Given the description of an element on the screen output the (x, y) to click on. 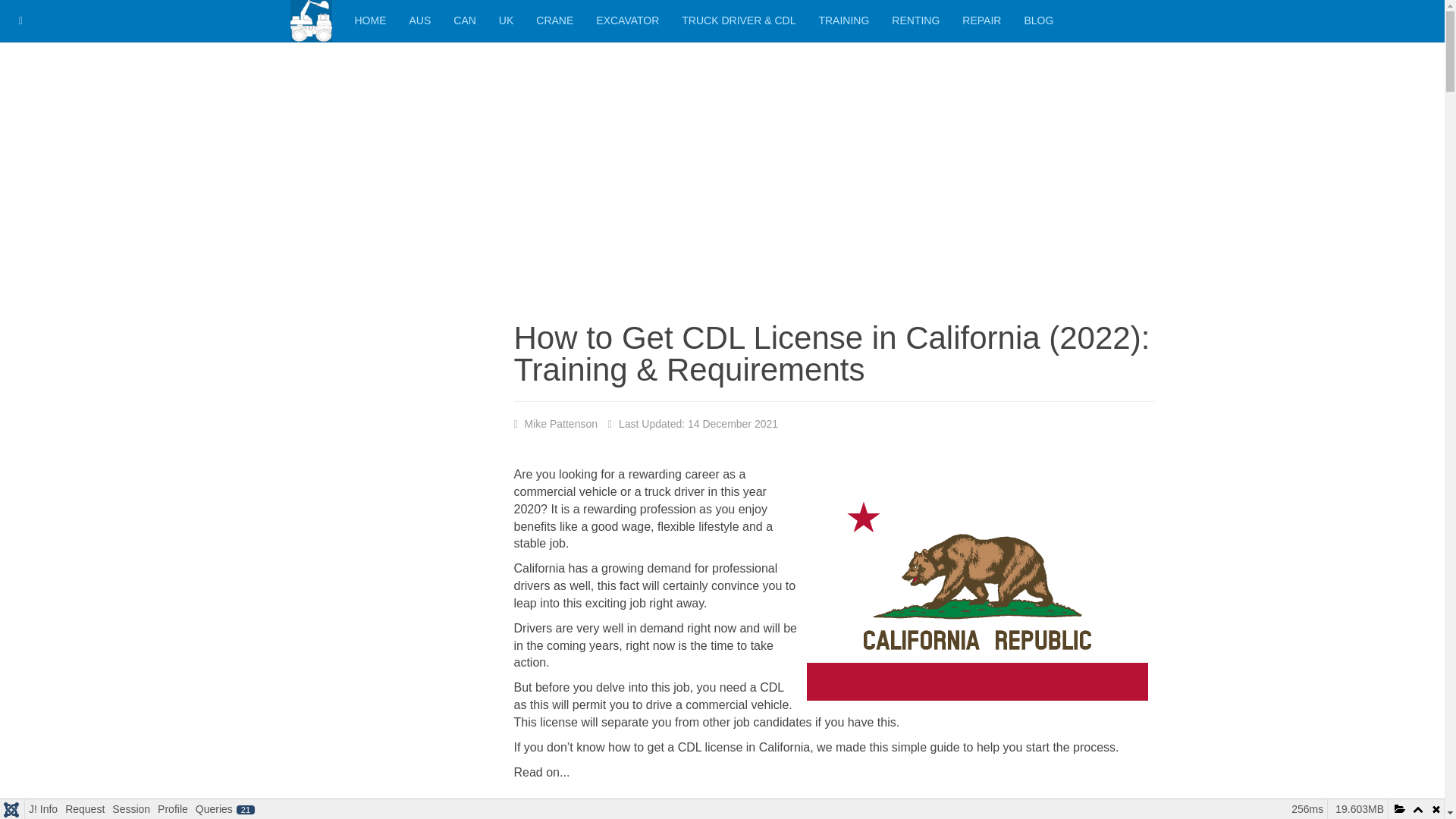
RENTING (915, 20)
EXCAVATOR (627, 20)
REPAIR (981, 20)
Written by:  (555, 424)
TRAINING (843, 20)
Advertisement (833, 803)
CRANE (554, 20)
Operator HQ (310, 20)
